Given the description of an element on the screen output the (x, y) to click on. 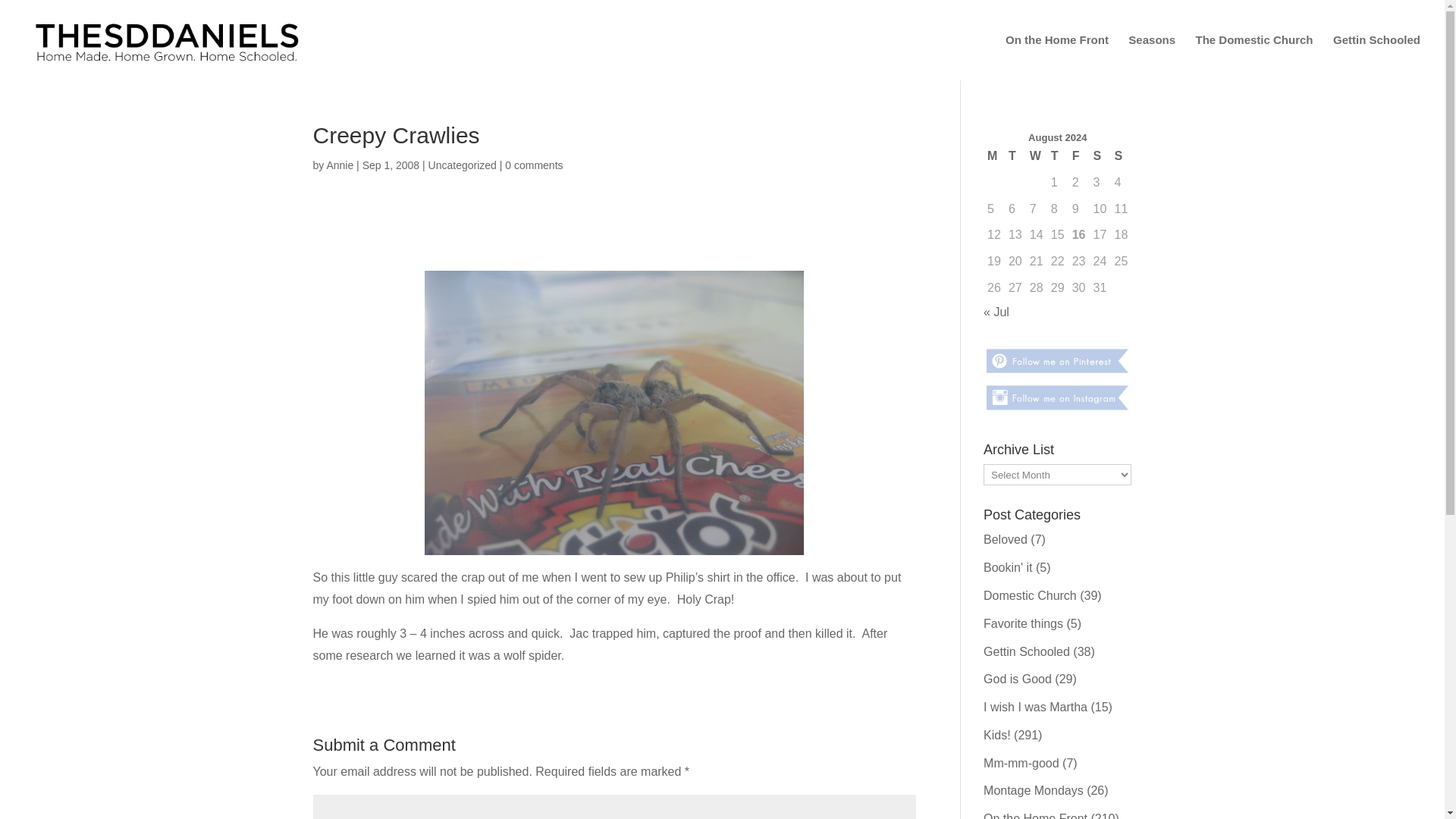
Kids! (997, 735)
spider (614, 413)
Uncategorized (462, 164)
On the Home Front (1057, 57)
Seasons (1151, 57)
Favorite things (1023, 623)
God is Good (1017, 678)
Posts by Annie (339, 164)
Domestic Church (1030, 594)
Gettin Schooled (1377, 57)
